Given the description of an element on the screen output the (x, y) to click on. 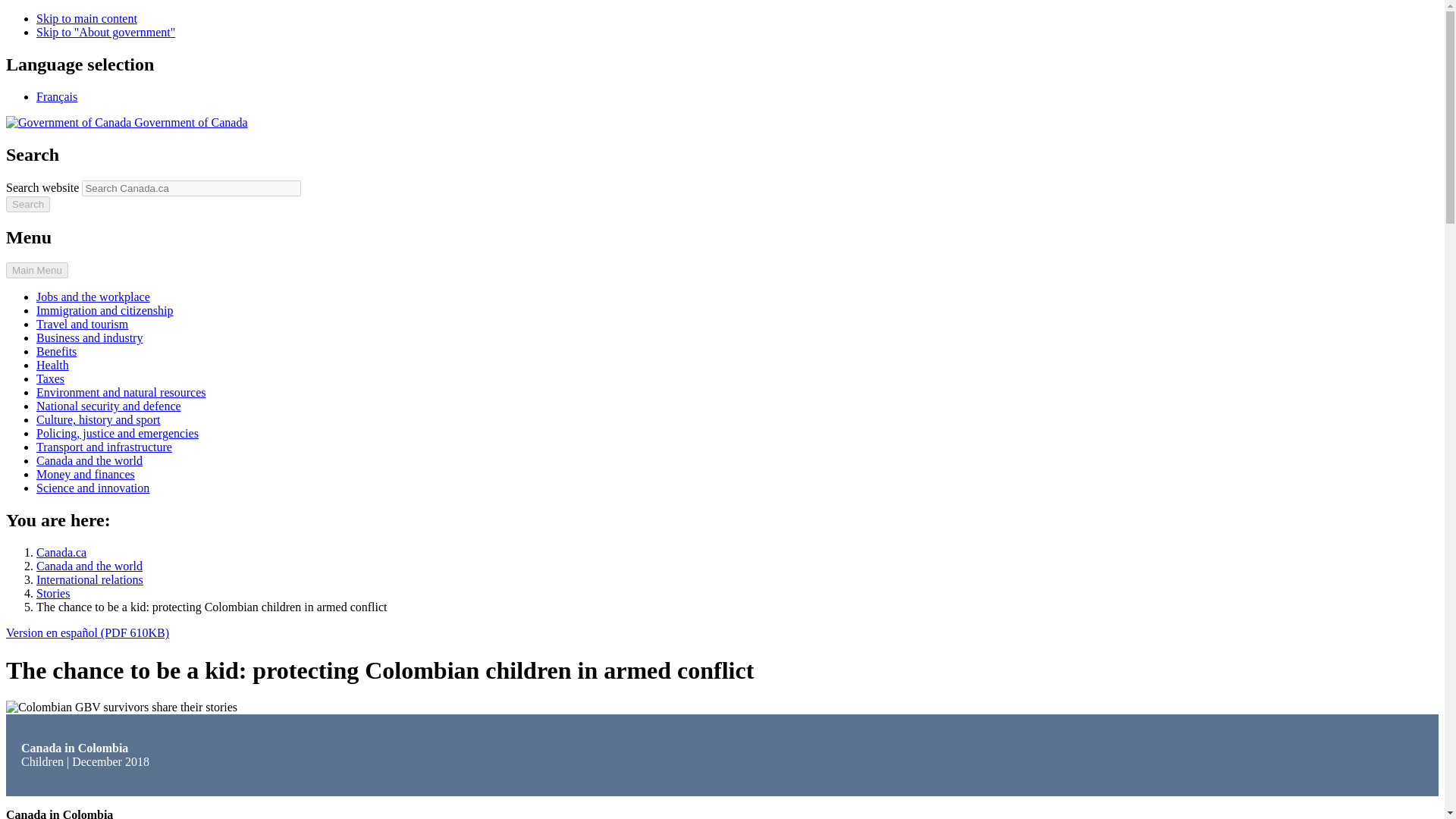
Canada and the world (89, 565)
Environment and natural resources (120, 391)
Transport and infrastructure (103, 446)
Canada and the world (89, 460)
Benefits (56, 350)
Skip to main content (86, 18)
Policing, justice and emergencies (117, 432)
Skip to "About government" (105, 31)
Business and industry (89, 337)
Search (27, 204)
Taxes (50, 378)
Science and innovation (92, 487)
Main Menu (36, 270)
International relations (89, 579)
Culture, history and sport (98, 419)
